Given the description of an element on the screen output the (x, y) to click on. 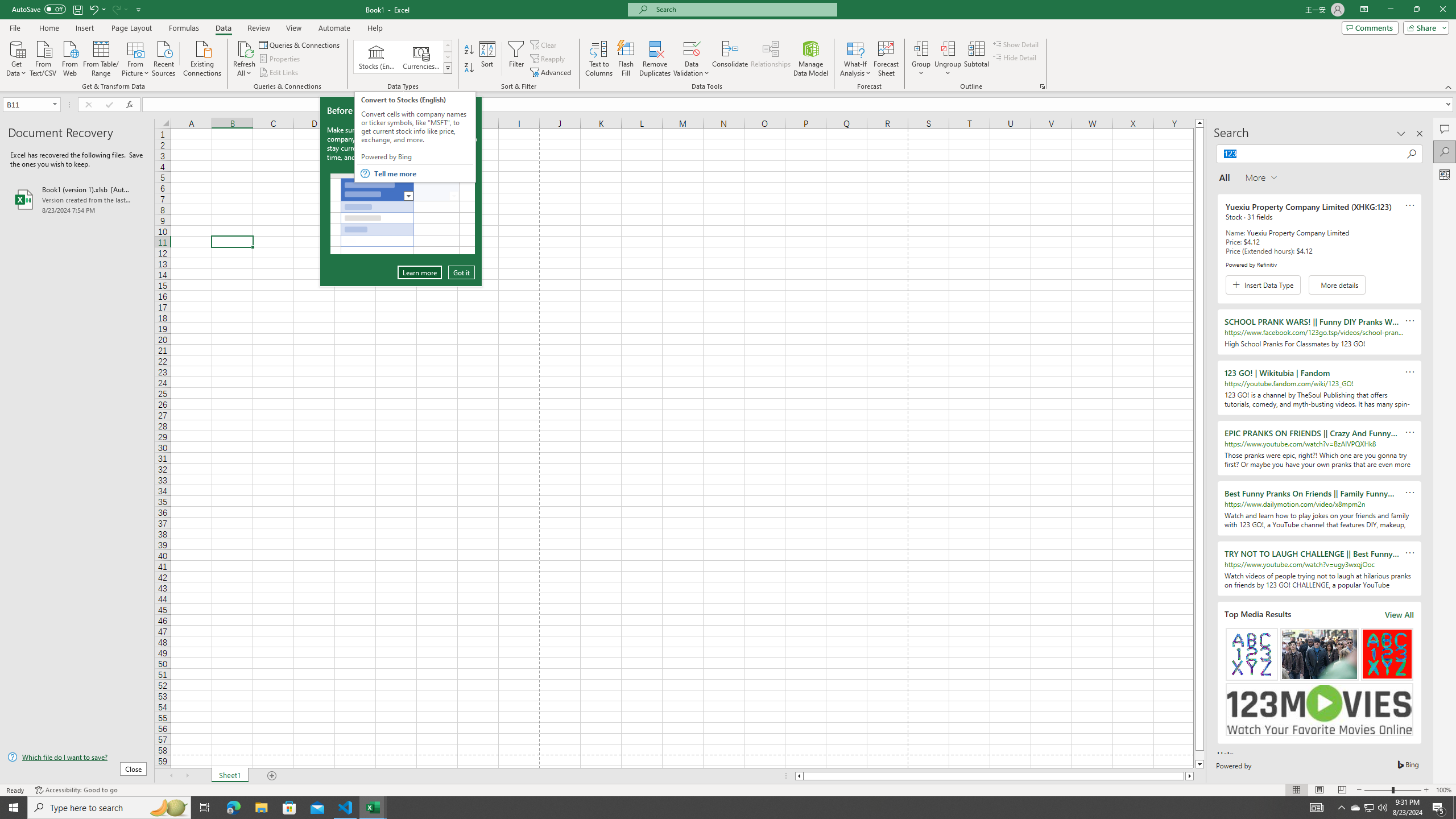
File Explorer (261, 807)
Start (13, 807)
